Given the description of an element on the screen output the (x, y) to click on. 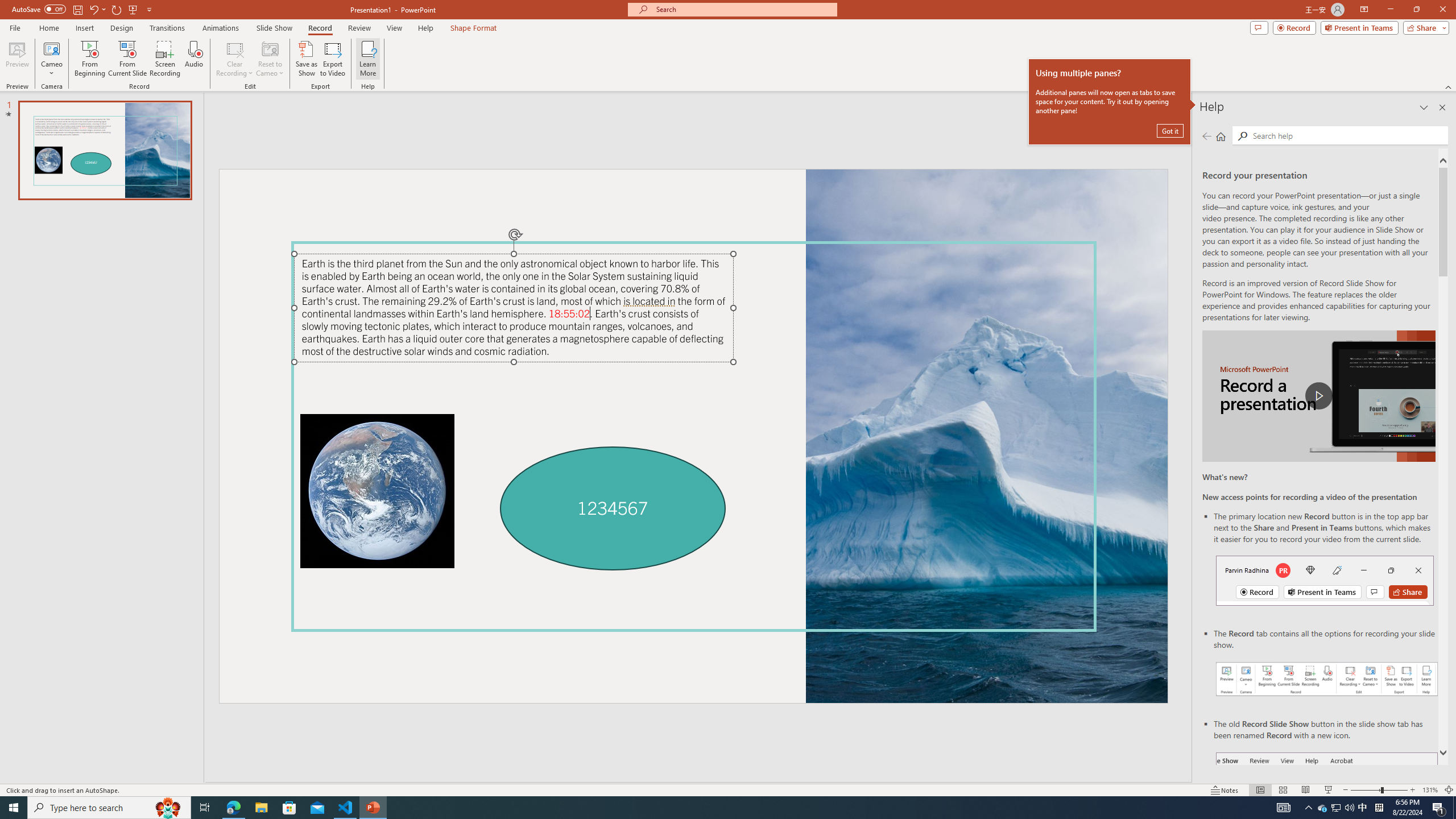
Previous page (1206, 136)
Export to Video (332, 58)
Zoom 131% (1430, 790)
